Given the description of an element on the screen output the (x, y) to click on. 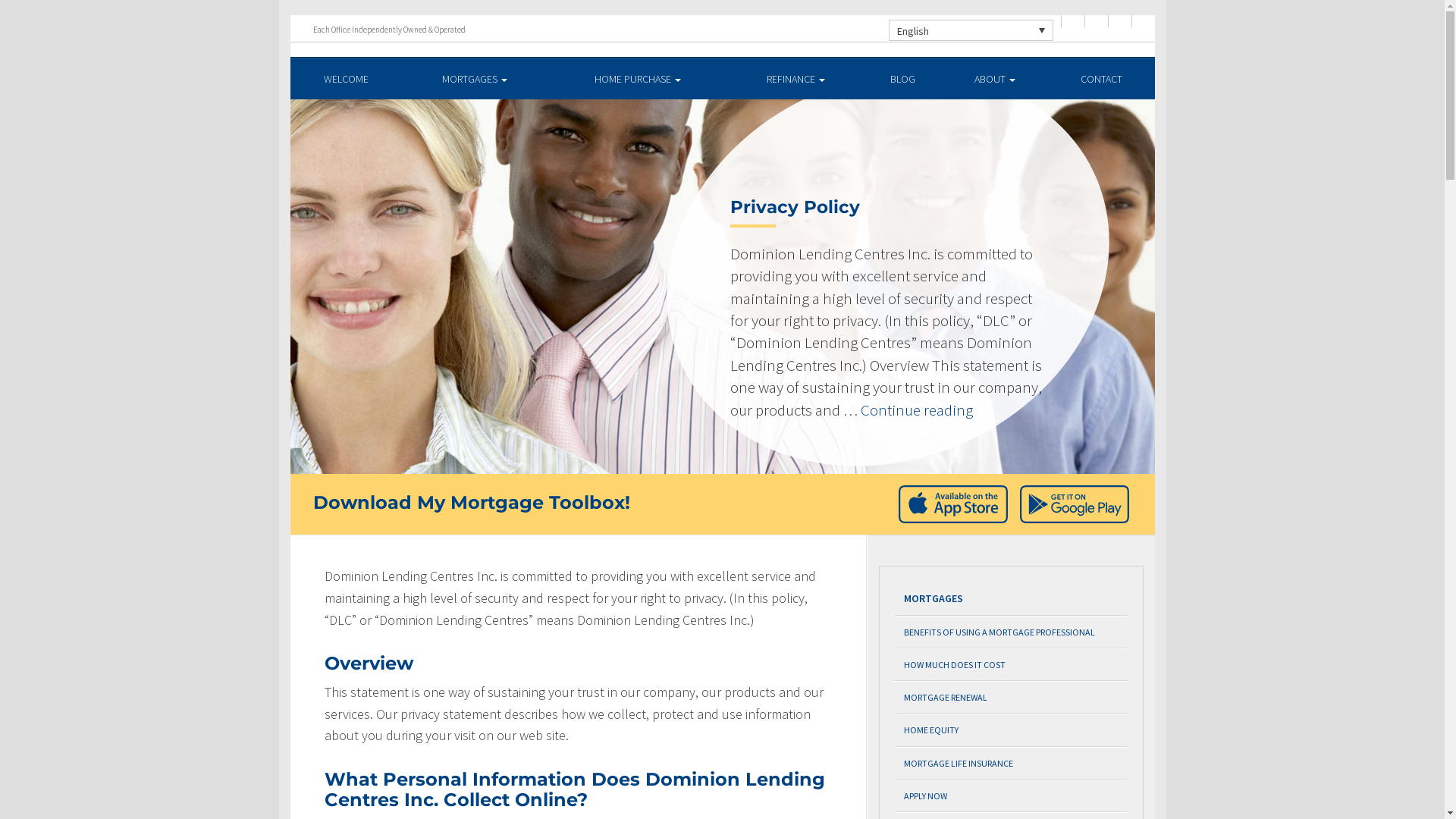
WELCOME Element type: text (345, 78)
APPLY NOW Element type: text (1010, 795)
MORTGAGE LIFE INSURANCE Element type: text (1010, 762)
BENEFITS OF USING A MORTGAGE PROFESSIONAL Element type: text (1010, 631)
HOW MUCH DOES IT COST Element type: text (1010, 664)
BLOG Element type: text (901, 78)
ABOUT Element type: text (994, 78)
MORTGAGES Element type: text (1010, 598)
HOME PURCHASE Element type: text (637, 78)
MORTGAGE RENEWAL Element type: text (1010, 696)
English Element type: text (970, 29)
REFINANCE Element type: text (795, 78)
HOME EQUITY Element type: text (1010, 729)
CONTACT Element type: text (1101, 78)
MORTGAGES Element type: text (474, 78)
